Given the description of an element on the screen output the (x, y) to click on. 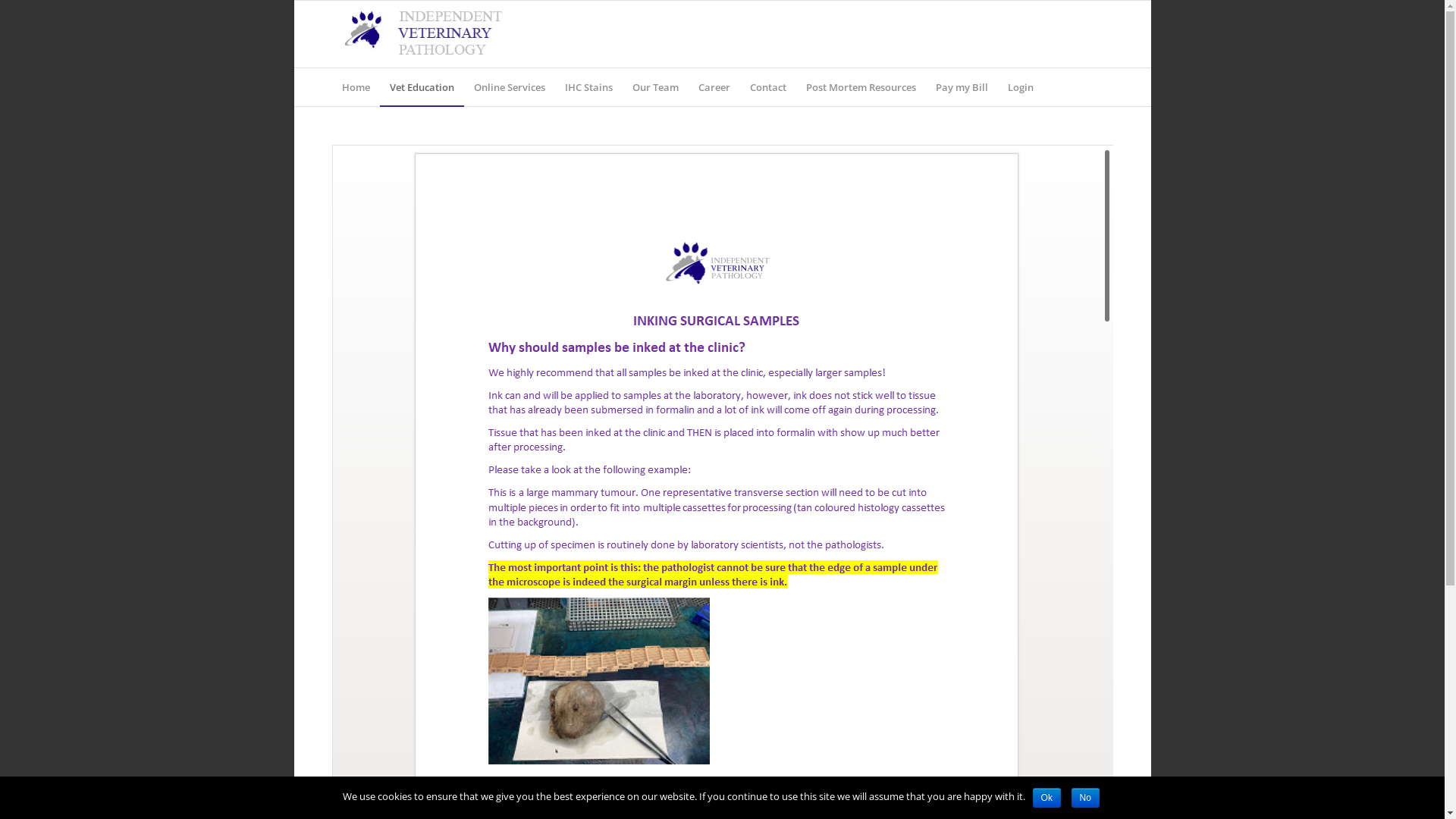
Online Services Element type: text (509, 87)
Ok Element type: text (1046, 797)
IHC Stains Element type: text (588, 87)
Vet Education Element type: text (421, 87)
Login Element type: text (1020, 87)
Pay my Bill Element type: text (961, 87)
Contact Element type: text (768, 87)
Career Element type: text (714, 87)
Our Team Element type: text (654, 87)
No Element type: text (1084, 797)
Home Element type: text (355, 87)
Post Mortem Resources Element type: text (860, 87)
